Given the description of an element on the screen output the (x, y) to click on. 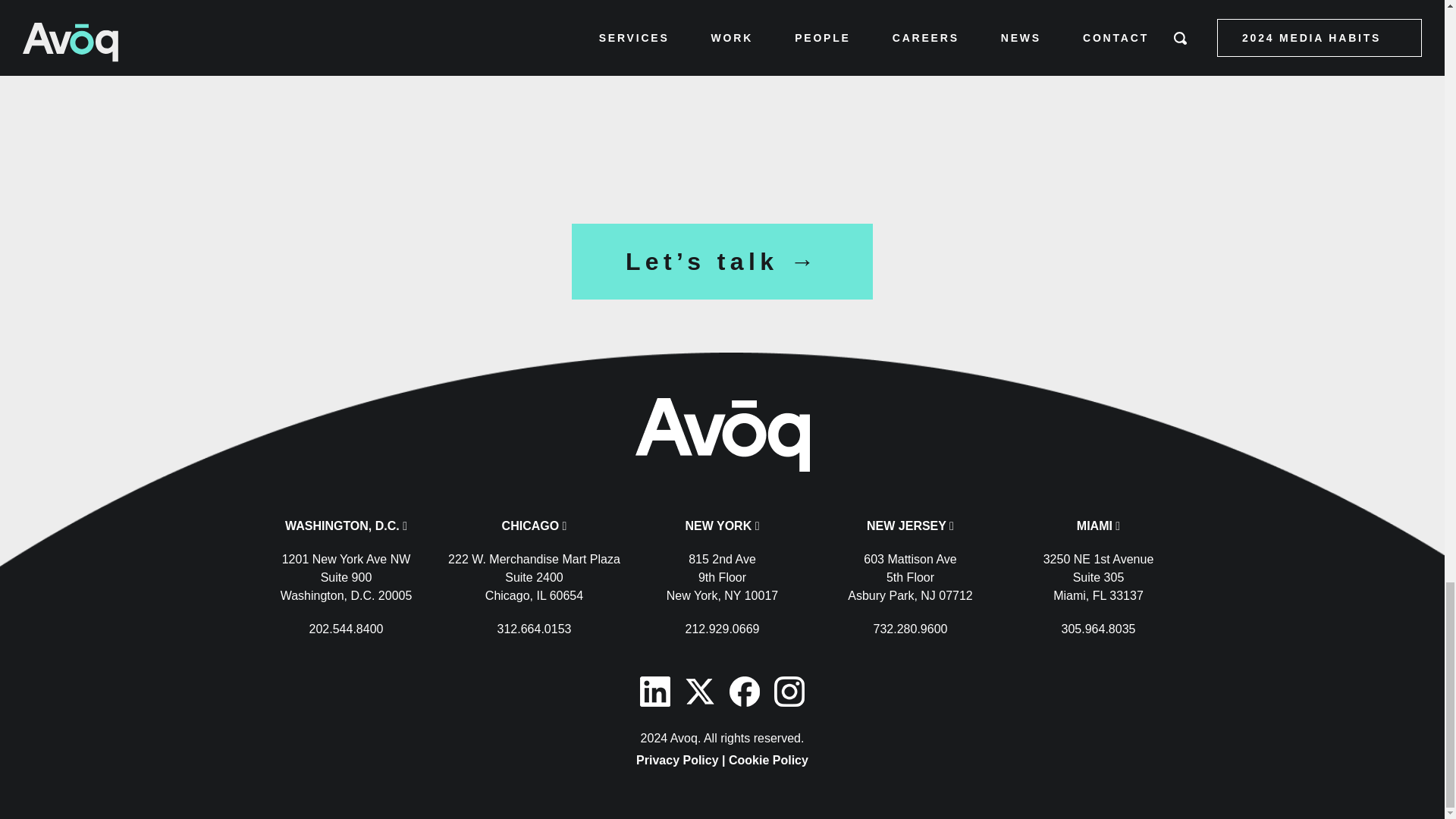
WASHINGTON, D.C. (344, 527)
NEW YORK (720, 527)
Privacy Policy (677, 761)
NEW JERSEY (907, 527)
Cookie Policy (768, 761)
MIAMI (1096, 527)
CHICAGO (856, 15)
